Given the description of an element on the screen output the (x, y) to click on. 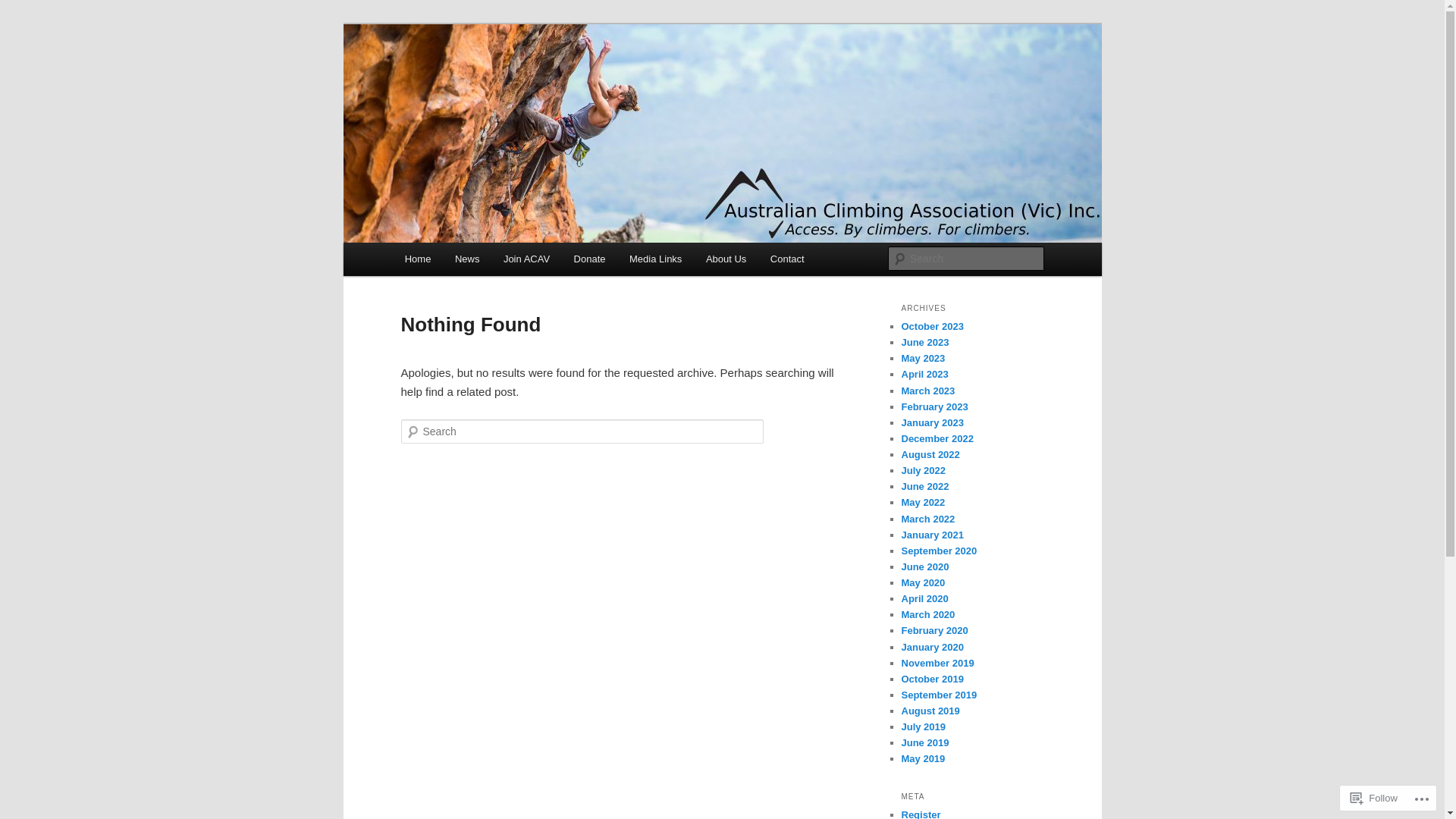
August 2019 Element type: text (929, 710)
September 2020 Element type: text (938, 550)
January 2020 Element type: text (931, 646)
June 2022 Element type: text (924, 486)
June 2023 Element type: text (924, 342)
February 2023 Element type: text (933, 406)
December 2022 Element type: text (936, 438)
Skip to primary content Element type: text (22, 22)
Home Element type: text (417, 258)
February 2020 Element type: text (933, 630)
Join ACAV Element type: text (526, 258)
October 2023 Element type: text (931, 326)
August 2022 Element type: text (929, 454)
May 2019 Element type: text (922, 758)
March 2023 Element type: text (927, 390)
June 2020 Element type: text (924, 566)
May 2020 Element type: text (922, 582)
News Element type: text (466, 258)
Search Element type: text (24, 8)
November 2019 Element type: text (936, 662)
Follow Element type: text (1373, 797)
Australian Climbing Association (Vic) Inc. Element type: text (625, 78)
March 2020 Element type: text (927, 614)
October 2019 Element type: text (931, 678)
April 2023 Element type: text (923, 373)
April 2020 Element type: text (923, 598)
September 2019 Element type: text (938, 694)
March 2022 Element type: text (927, 518)
June 2019 Element type: text (924, 742)
About Us Element type: text (725, 258)
Media Links Element type: text (655, 258)
May 2023 Element type: text (922, 358)
July 2022 Element type: text (922, 470)
May 2022 Element type: text (922, 502)
January 2021 Element type: text (931, 534)
July 2019 Element type: text (922, 726)
January 2023 Element type: text (931, 422)
Donate Element type: text (589, 258)
Contact Element type: text (786, 258)
